Given the description of an element on the screen output the (x, y) to click on. 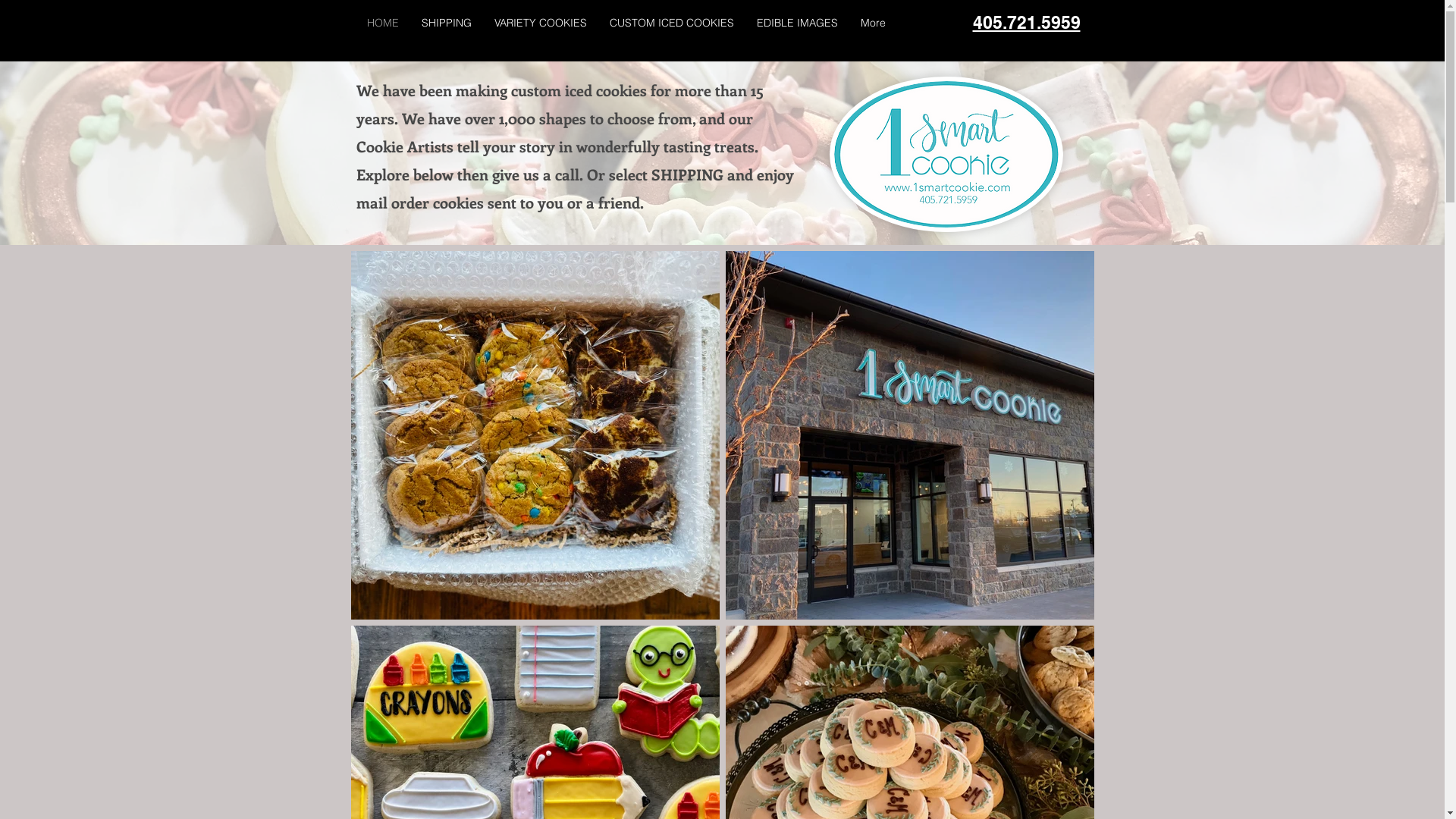
405.721.5959 Element type: text (1025, 22)
HOME Element type: text (381, 23)
EDIBLE IMAGES Element type: text (796, 23)
CUSTOM ICED COOKIES Element type: text (670, 23)
VARIETY COOKIES Element type: text (539, 23)
SHIPPING Element type: text (445, 23)
